Given the description of an element on the screen output the (x, y) to click on. 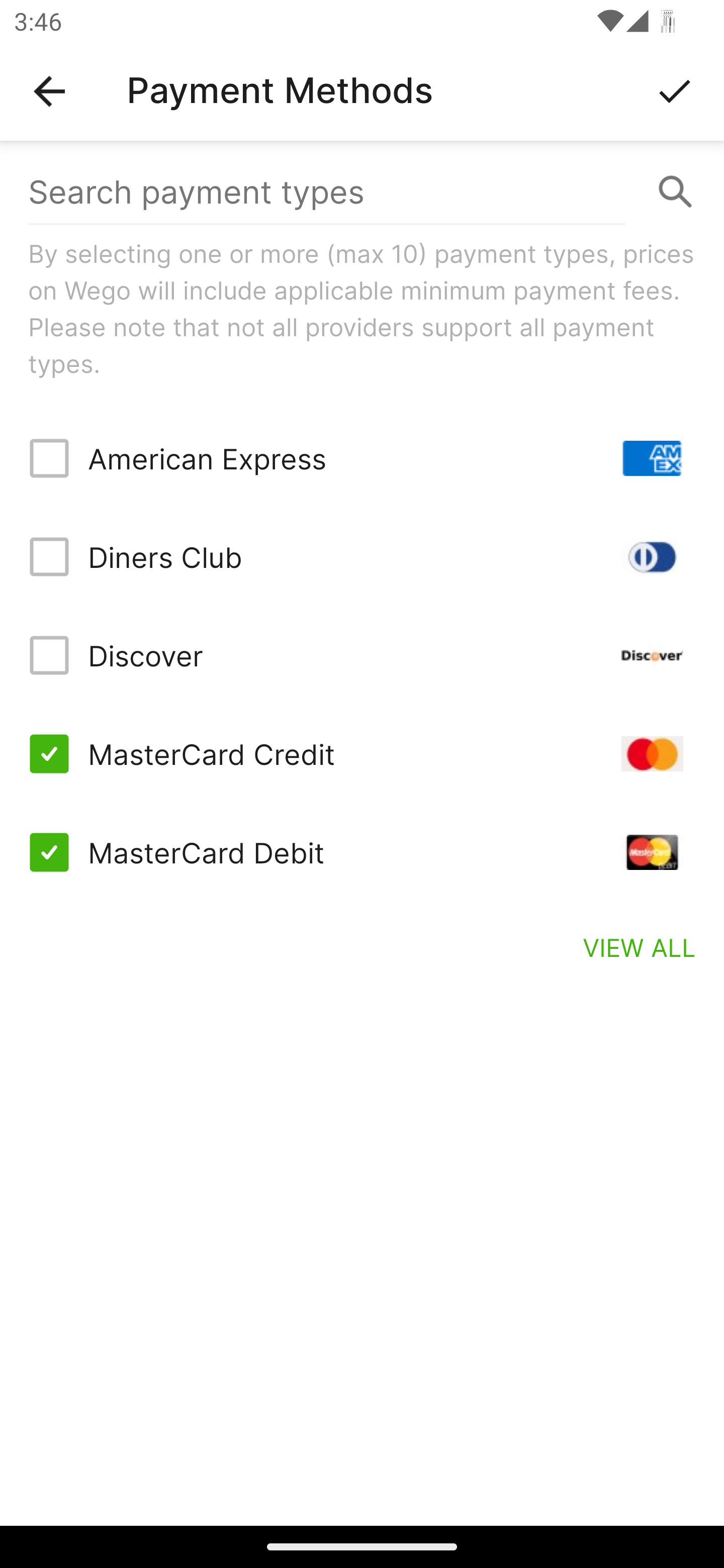
Search payment types  (361, 191)
American Express (362, 458)
Diners Club (362, 557)
Discover (362, 655)
MasterCard Credit (362, 753)
MasterCard Debit (362, 851)
VIEW ALL (639, 946)
